Given the description of an element on the screen output the (x, y) to click on. 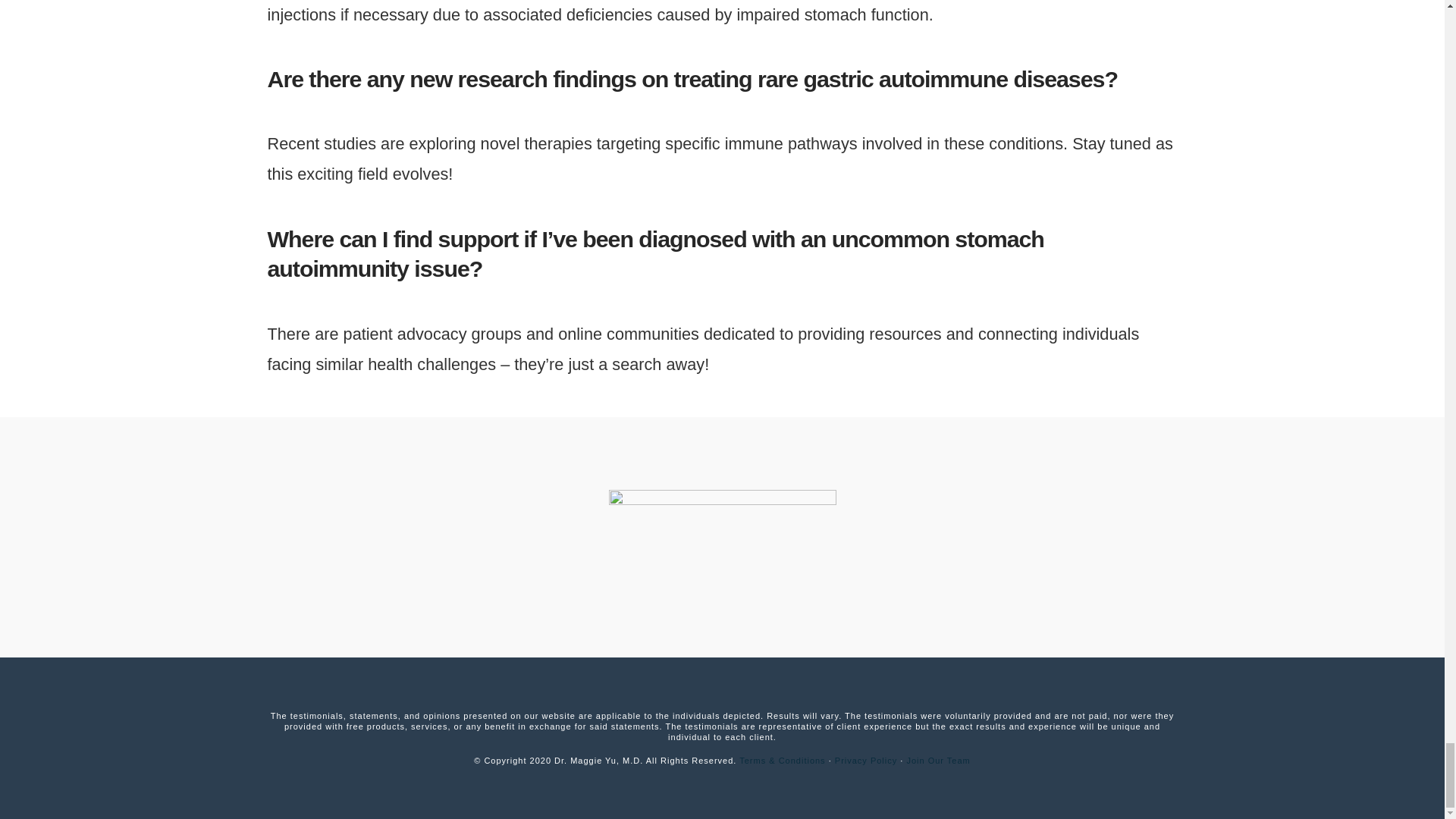
Join our team (937, 759)
Privacy Policy (865, 759)
Terms (782, 759)
